Given the description of an element on the screen output the (x, y) to click on. 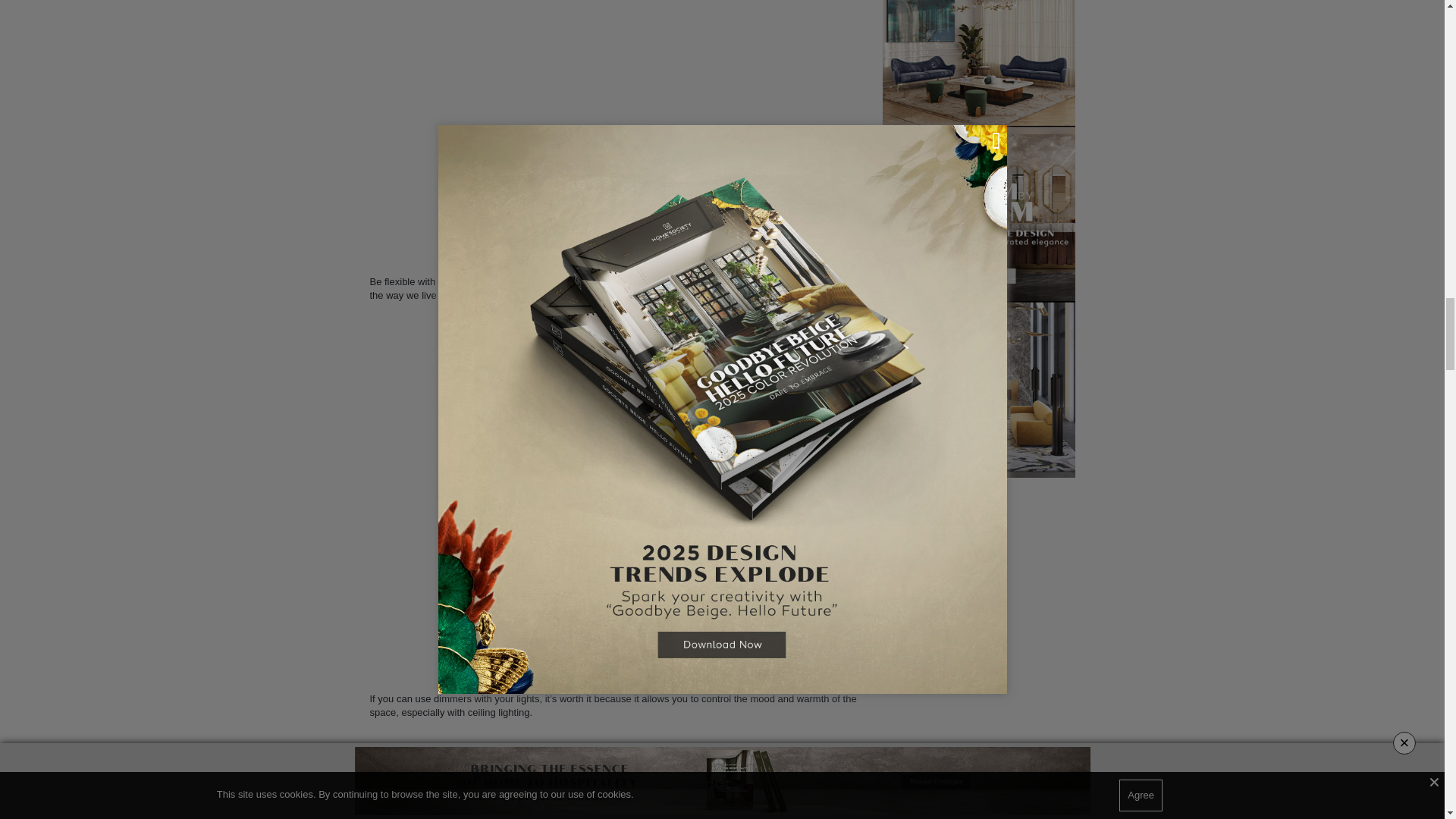
Muuto wood table lamp (617, 133)
